Given the description of an element on the screen output the (x, y) to click on. 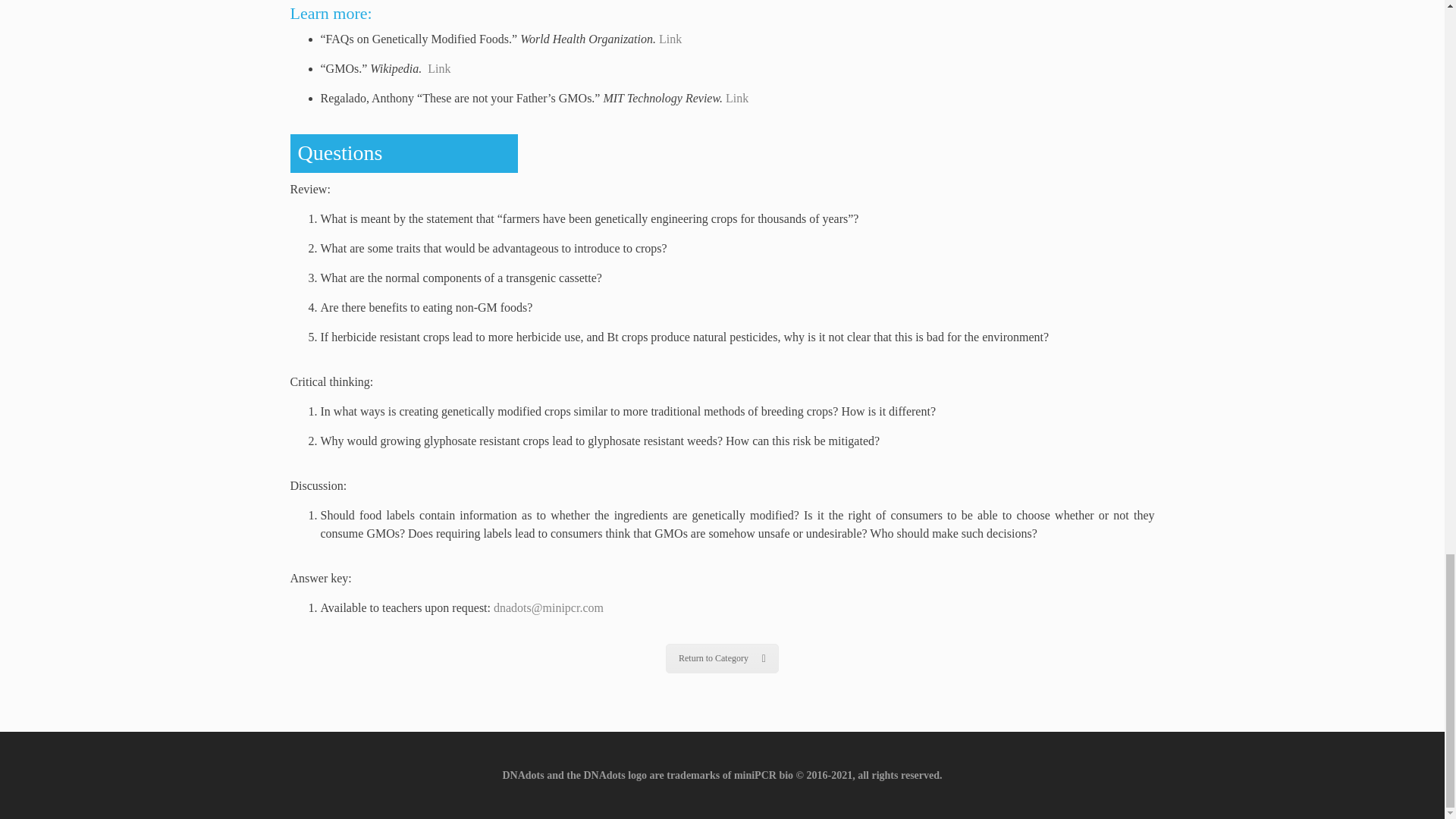
Link (736, 97)
Link (438, 68)
Return to Category (721, 658)
Link (670, 38)
